Given the description of an element on the screen output the (x, y) to click on. 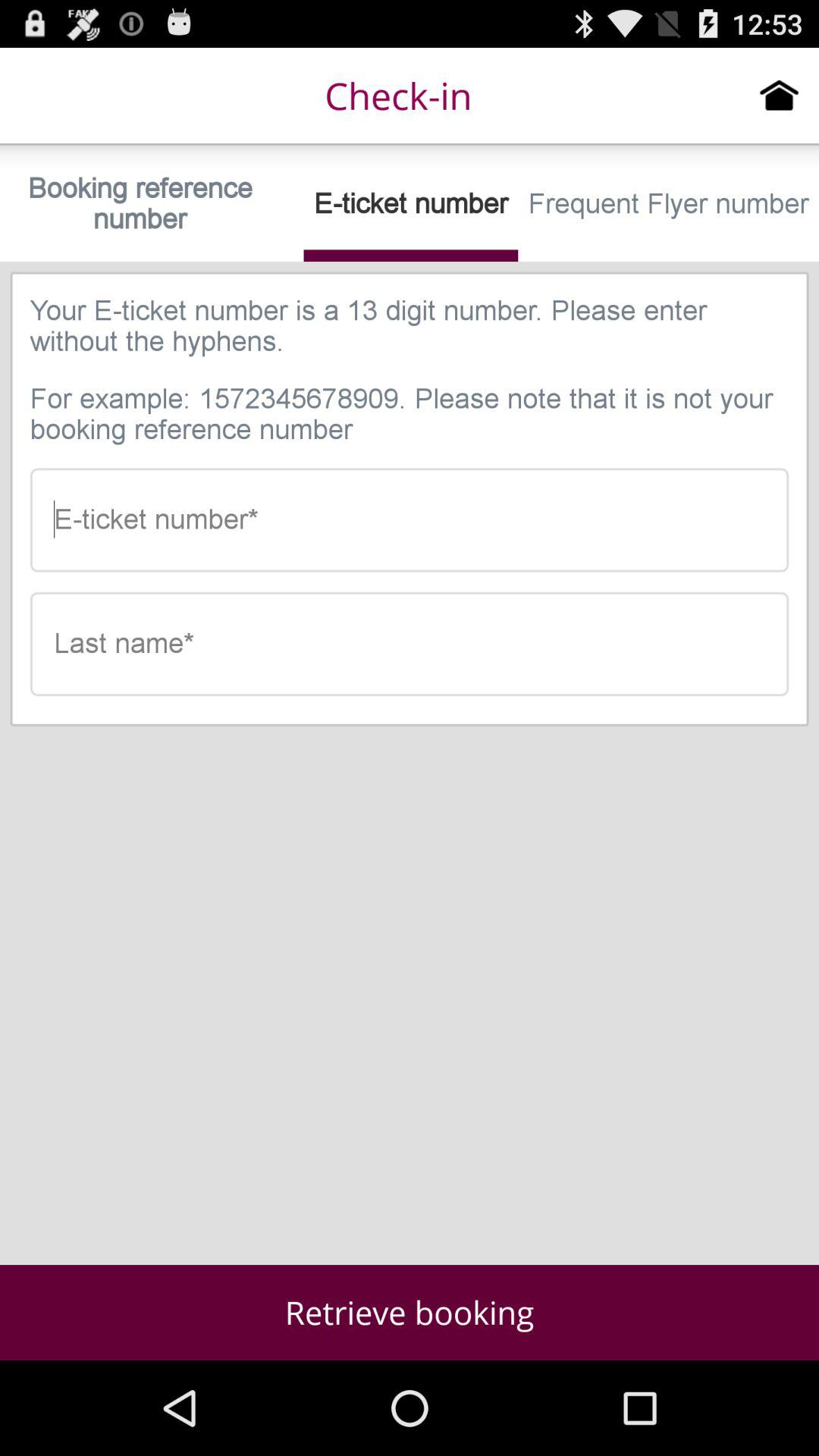
select the icon above your e ticket item (668, 203)
